Given the description of an element on the screen output the (x, y) to click on. 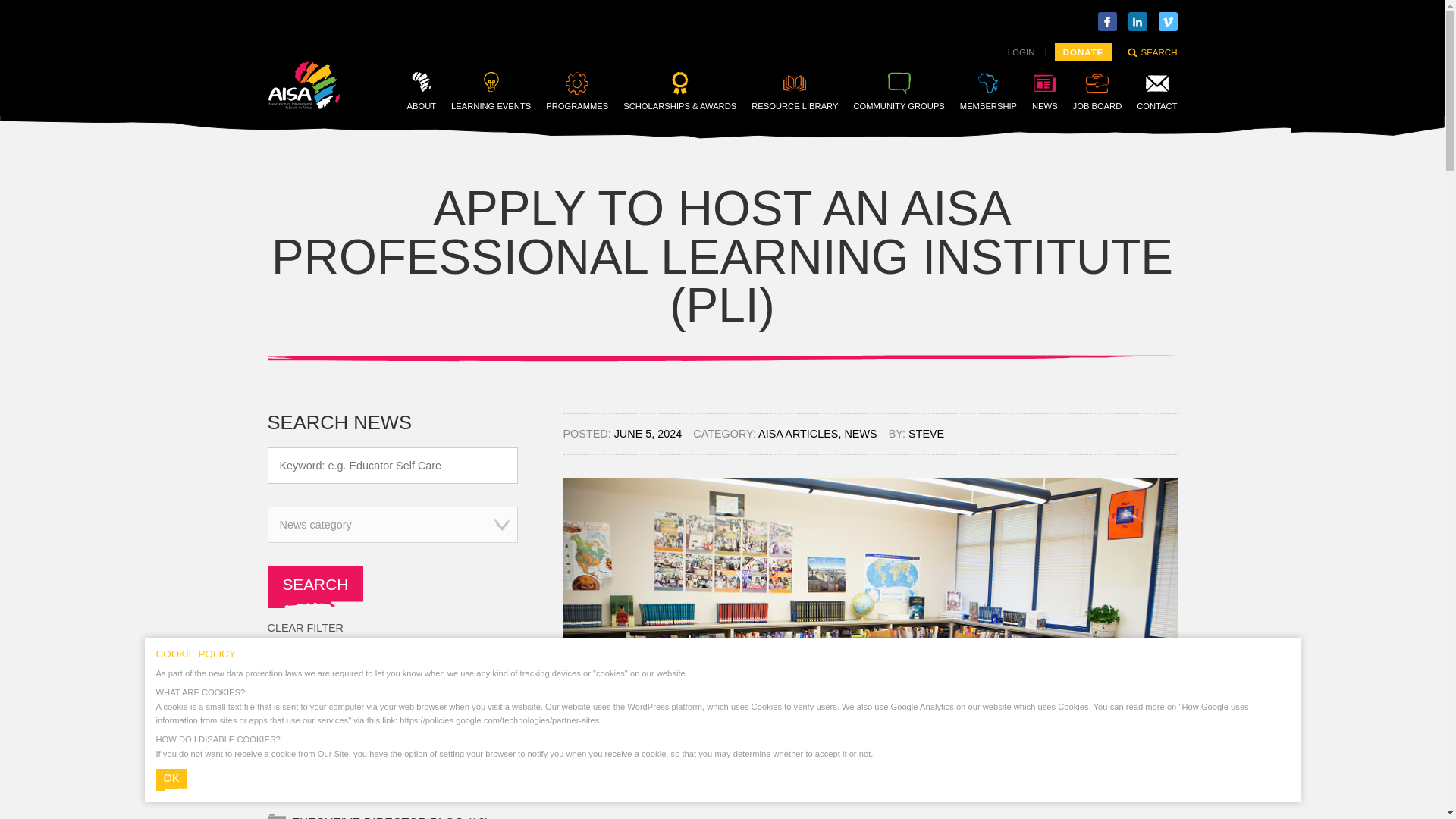
LEARNING EVENTS (491, 91)
Contact us (1156, 91)
CONTACT (1156, 91)
SEARCH (1151, 51)
AISA Job Board (1097, 91)
AISA Membership (987, 91)
Search (314, 586)
Search (314, 586)
LOGIN (1021, 51)
JOB BOARD (1097, 91)
MEMBERSHIP (987, 91)
Connect with us on Vimeo (1167, 21)
Donate (1083, 52)
AISA (302, 105)
DONATE (1083, 52)
